Given the description of an element on the screen output the (x, y) to click on. 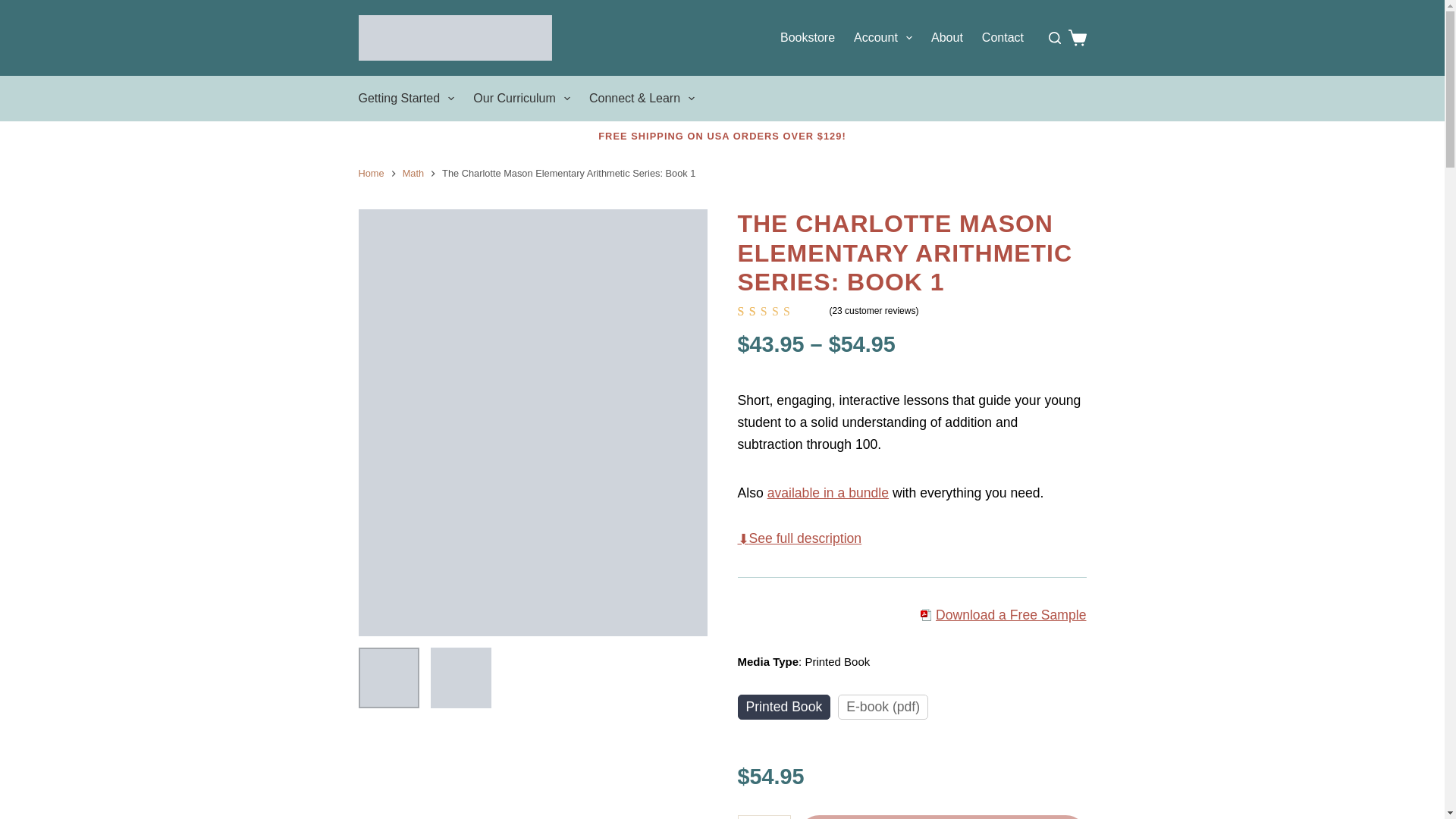
Skip to content (15, 7)
Charlotte Mason Elementary Arithmetic Book 1 (461, 677)
Search (461, 467)
Bookstore (807, 38)
1 (763, 816)
Account (882, 38)
Charlotte Mason Elementary Arithmetic Book 1 (388, 677)
